Given the description of an element on the screen output the (x, y) to click on. 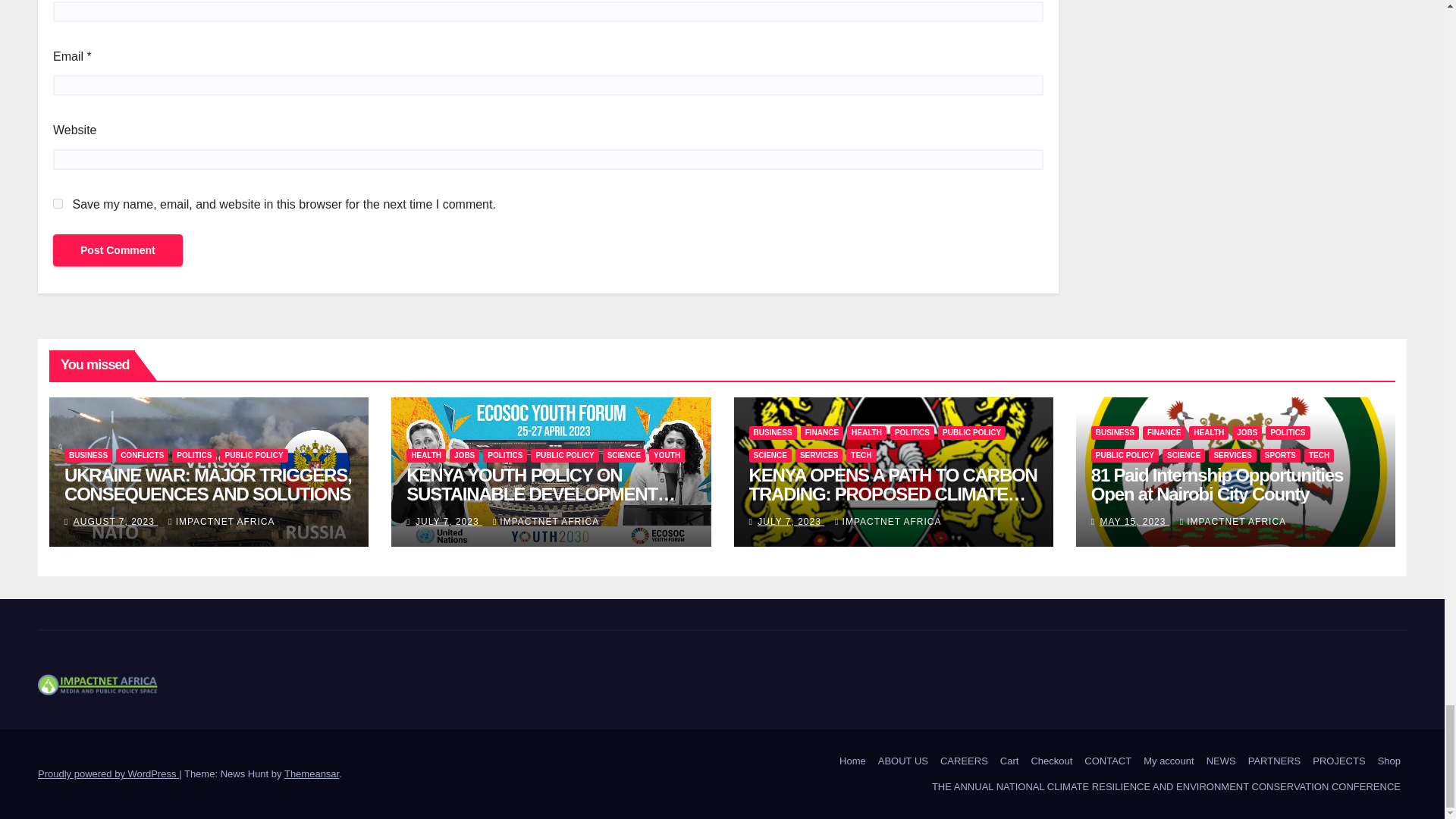
yes (57, 203)
Post Comment (117, 250)
